Given the description of an element on the screen output the (x, y) to click on. 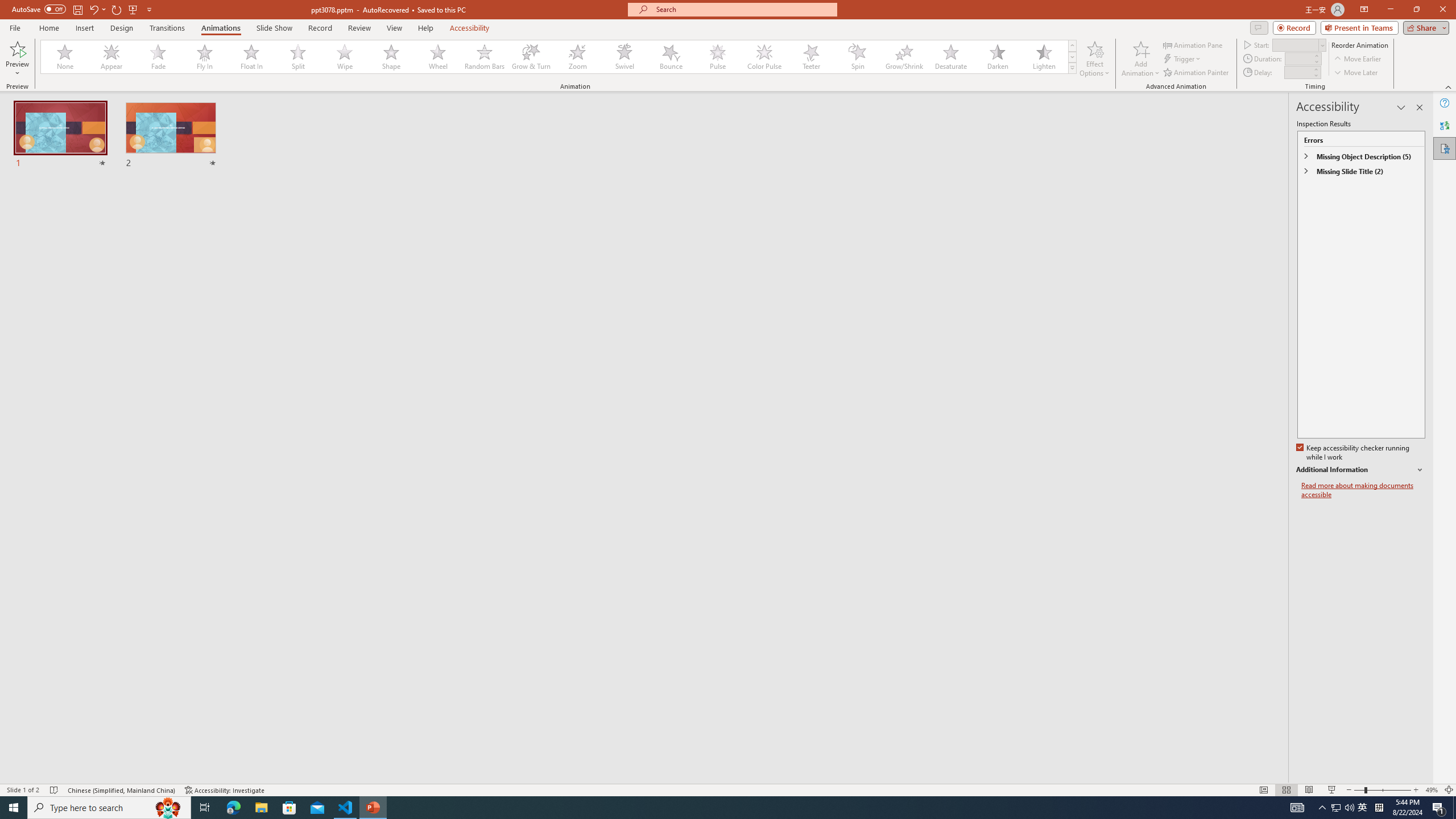
Open (1321, 44)
Slide Sorter (1286, 790)
Spin (857, 56)
Slide Show (273, 28)
Translator (1444, 125)
Zoom (1382, 790)
Class: NetUIImage (1072, 68)
Fade (158, 56)
File Tab (15, 27)
Move Earlier (1357, 58)
Read more about making documents accessible (1363, 489)
Shape (391, 56)
Customize Quick Access Toolbar (149, 9)
More (1315, 69)
Restore Down (1416, 9)
